Given the description of an element on the screen output the (x, y) to click on. 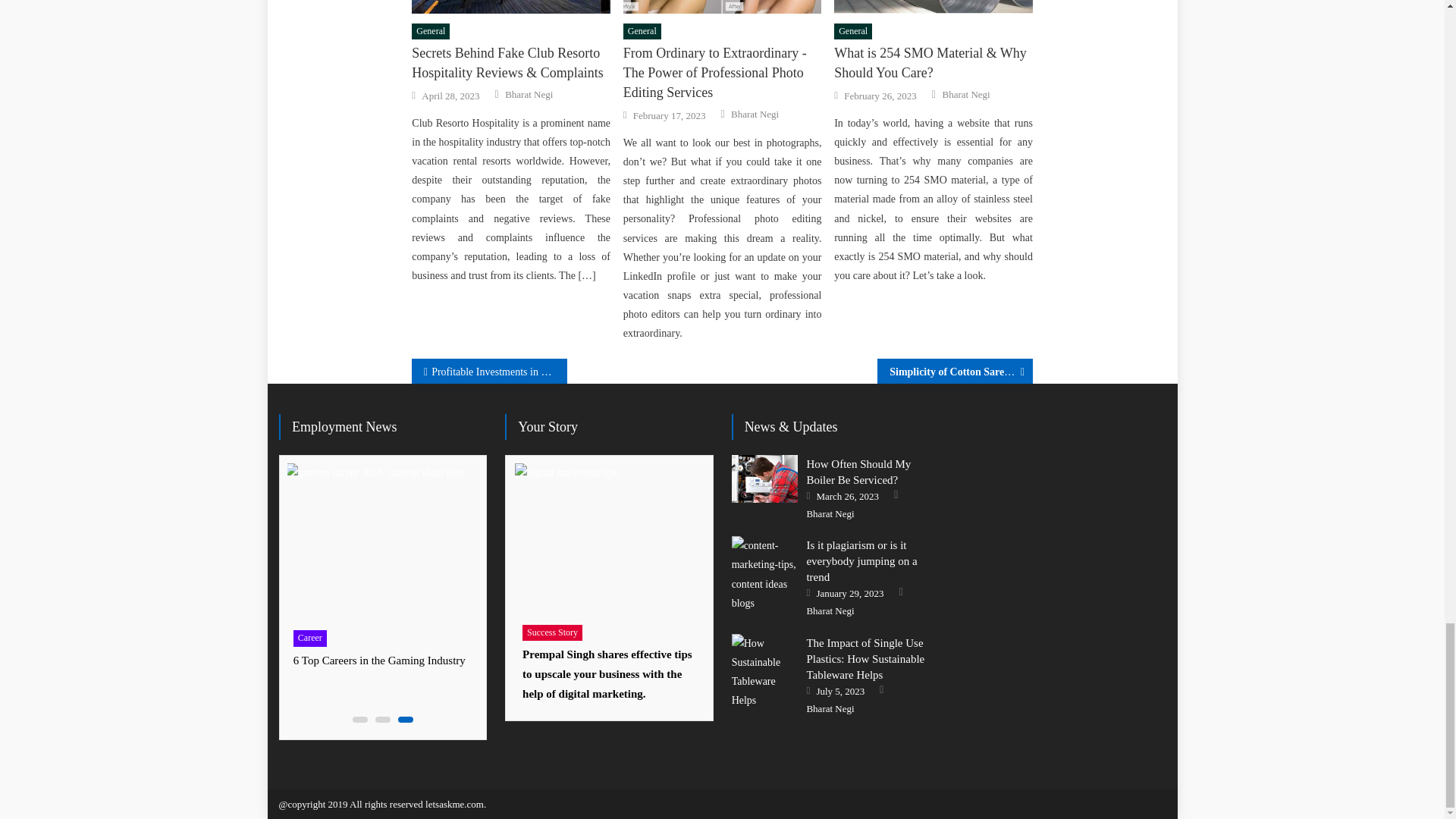
April 28, 2023 (450, 96)
General (853, 31)
6 Top Careers in the Gaming Industry (379, 541)
General (430, 31)
Bharat Negi (754, 114)
General (642, 31)
Bharat Negi (529, 94)
February 17, 2023 (669, 115)
